Given the description of an element on the screen output the (x, y) to click on. 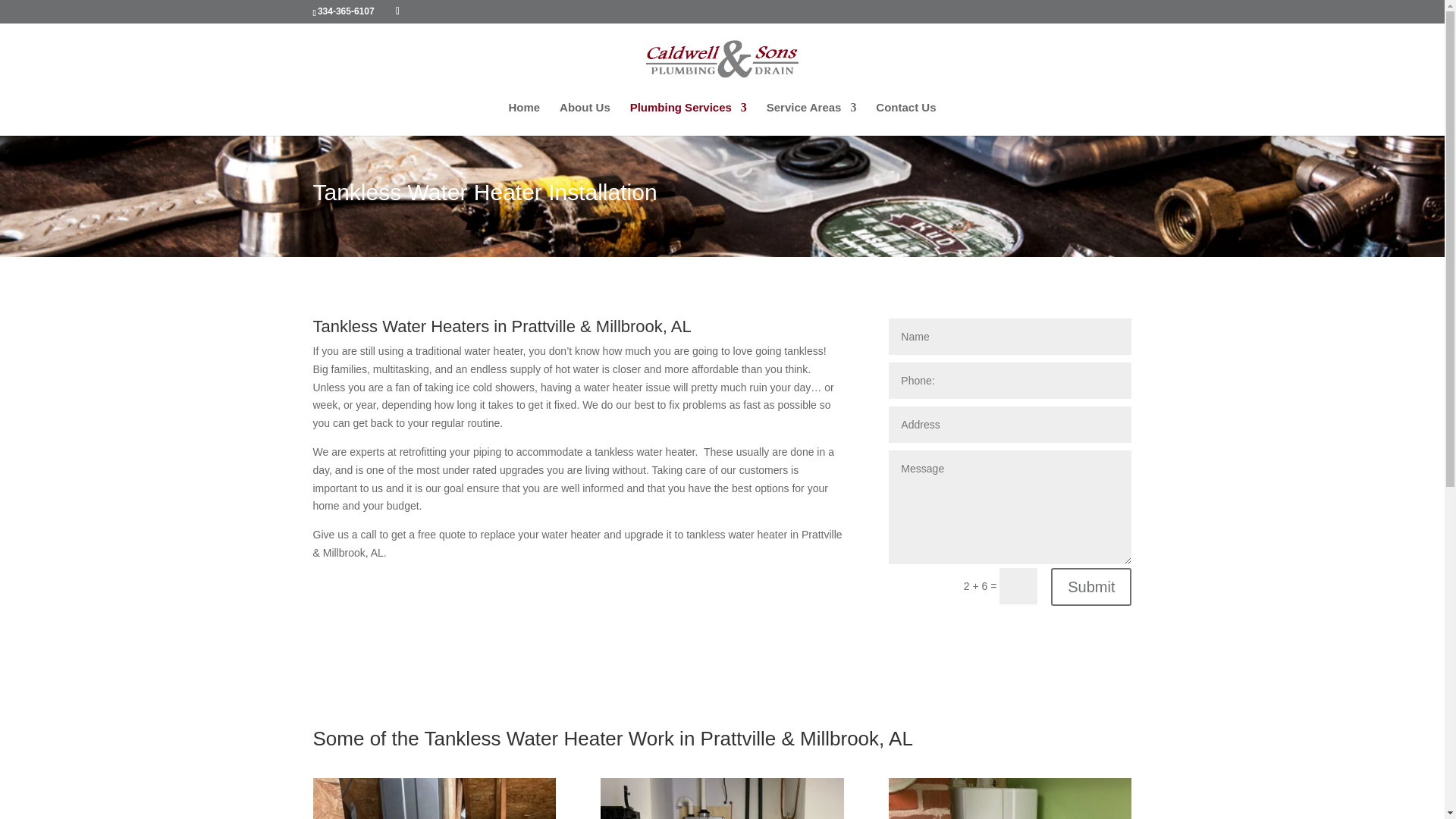
Submit (1091, 587)
Plumbing Services (688, 118)
About Us (584, 118)
Contact Us (906, 118)
Service Areas (812, 118)
Home (524, 118)
